Given the description of an element on the screen output the (x, y) to click on. 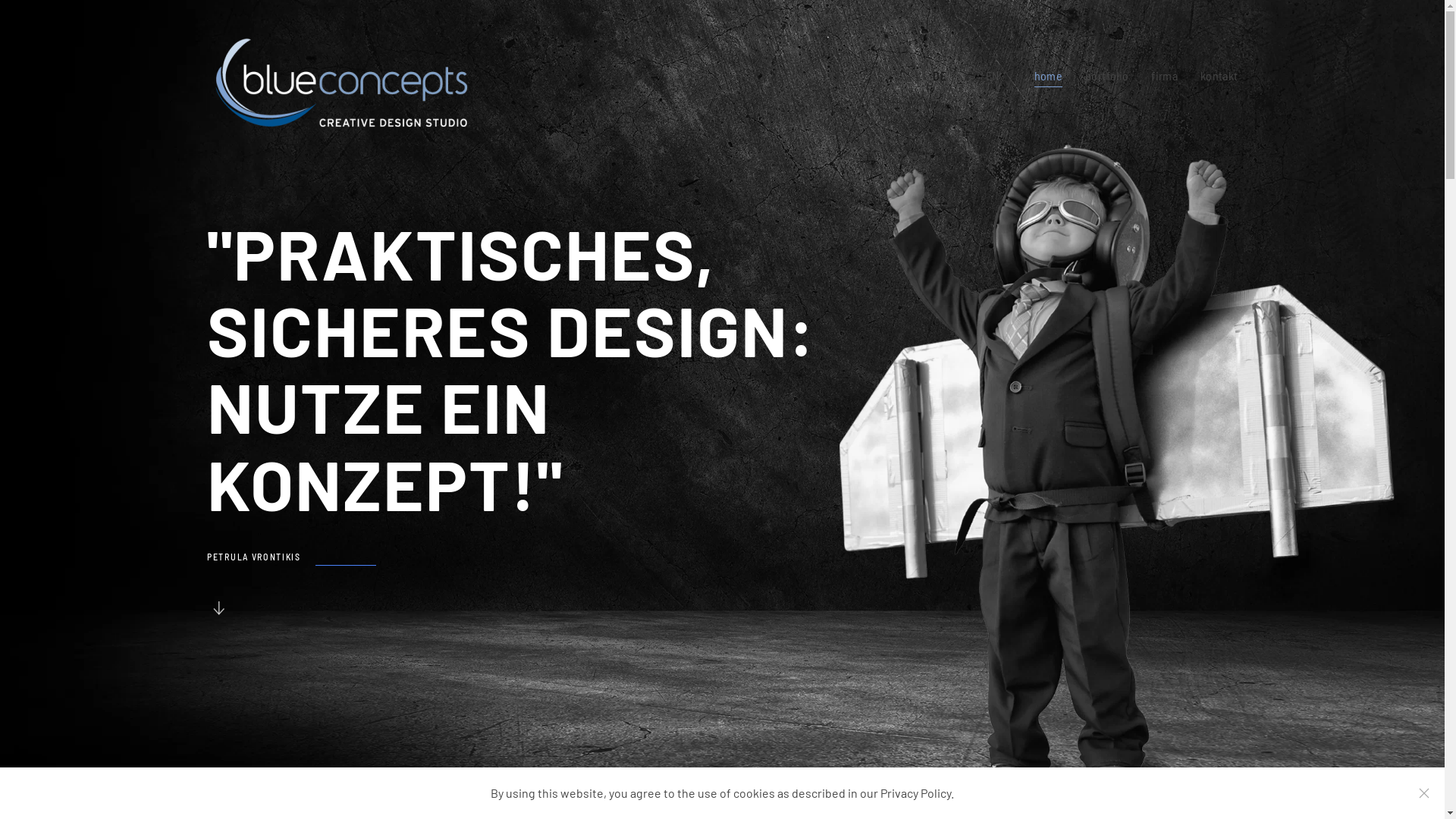
portfolio Element type: text (1106, 75)
kontakt Element type: text (1218, 75)
firma Element type: text (1164, 75)
home Element type: text (1048, 75)
EN Element type: text (992, 75)
DE Element type: text (939, 75)
